Given the description of an element on the screen output the (x, y) to click on. 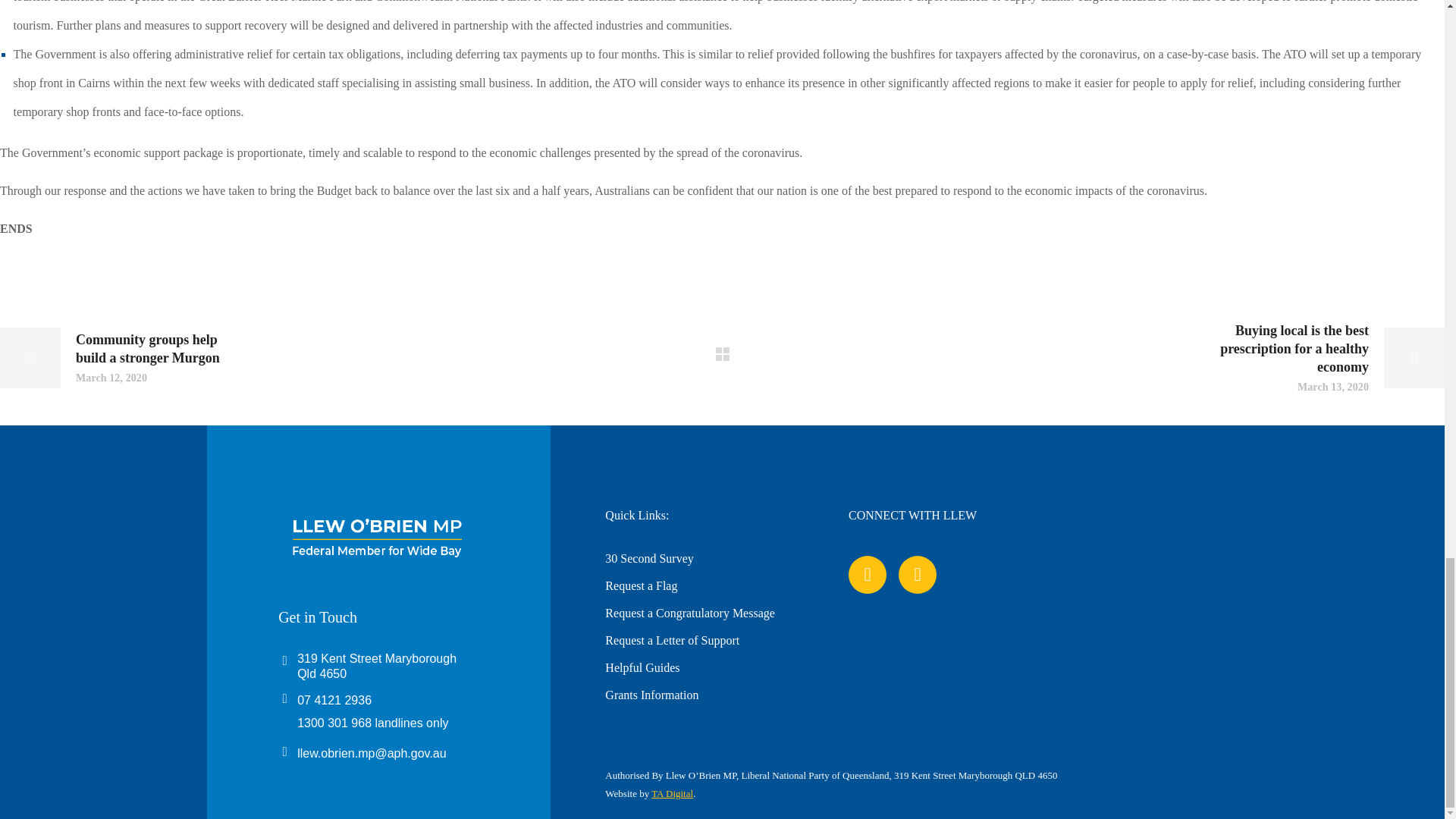
Community groups help build a stronger Murgon (117, 357)
